Given the description of an element on the screen output the (x, y) to click on. 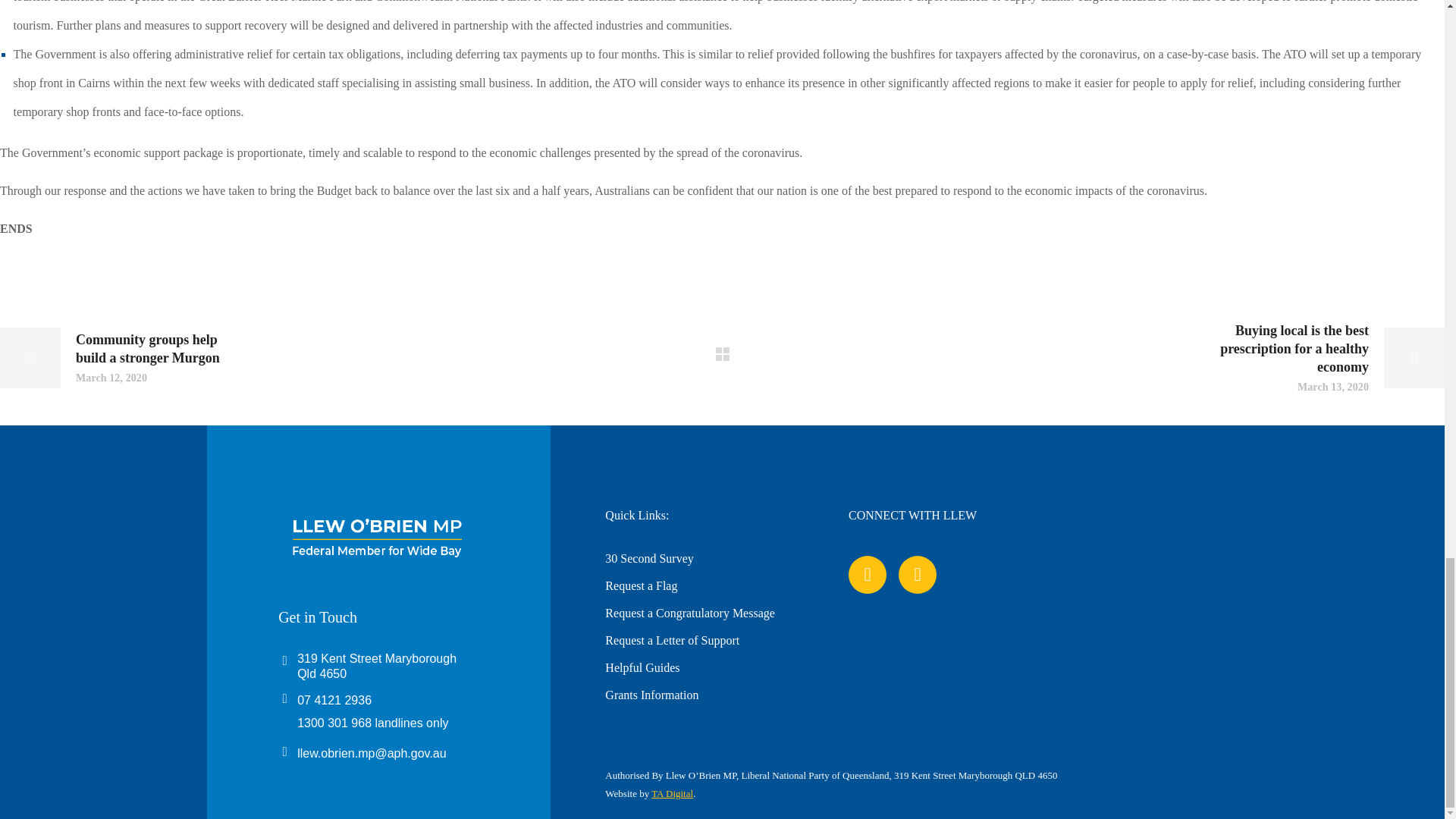
Community groups help build a stronger Murgon (117, 357)
